Given the description of an element on the screen output the (x, y) to click on. 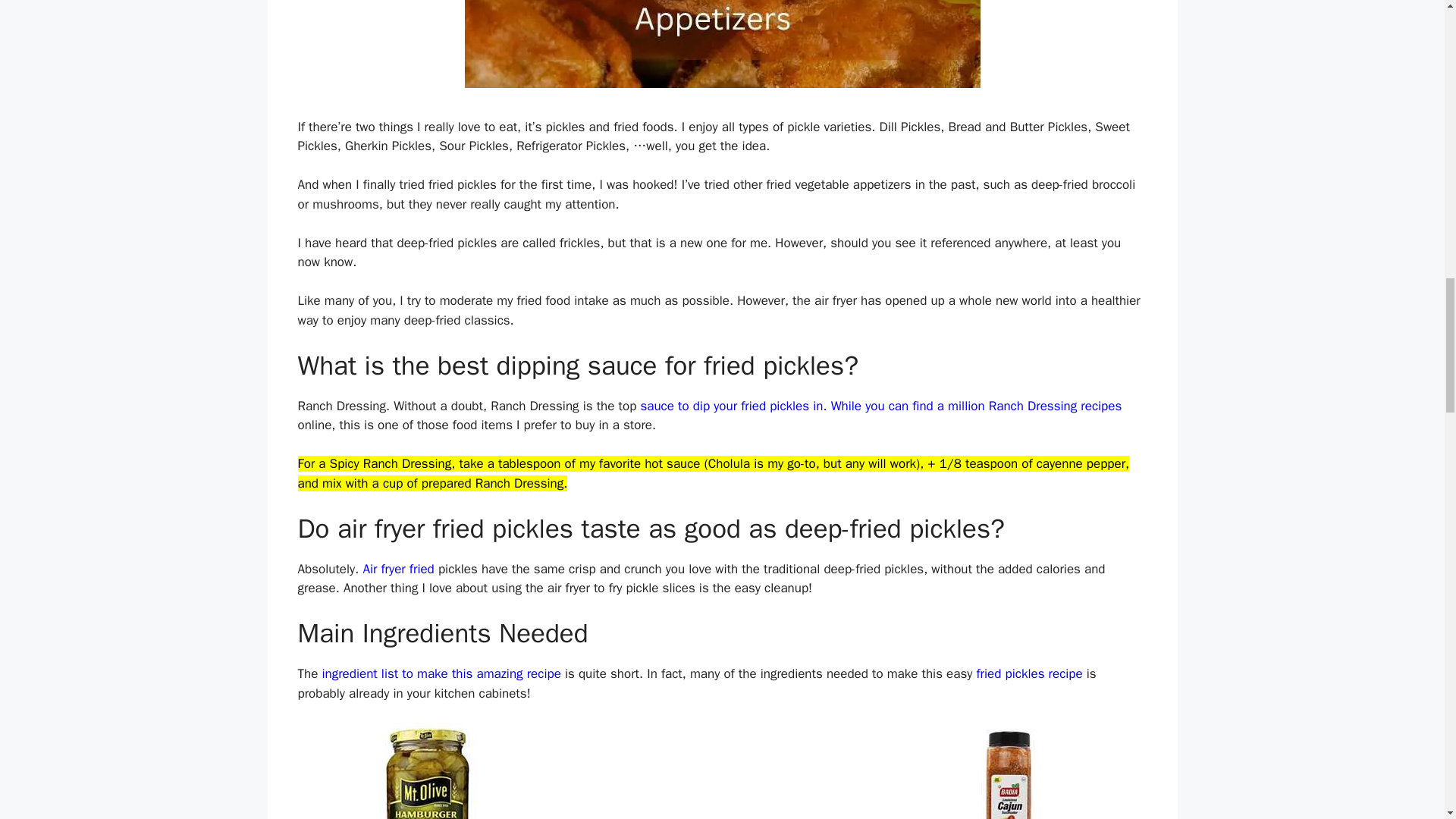
fried pickles recipe (1029, 673)
ingredient list to make this amazing recipe (440, 673)
Air fryer fried (397, 569)
